Given the description of an element on the screen output the (x, y) to click on. 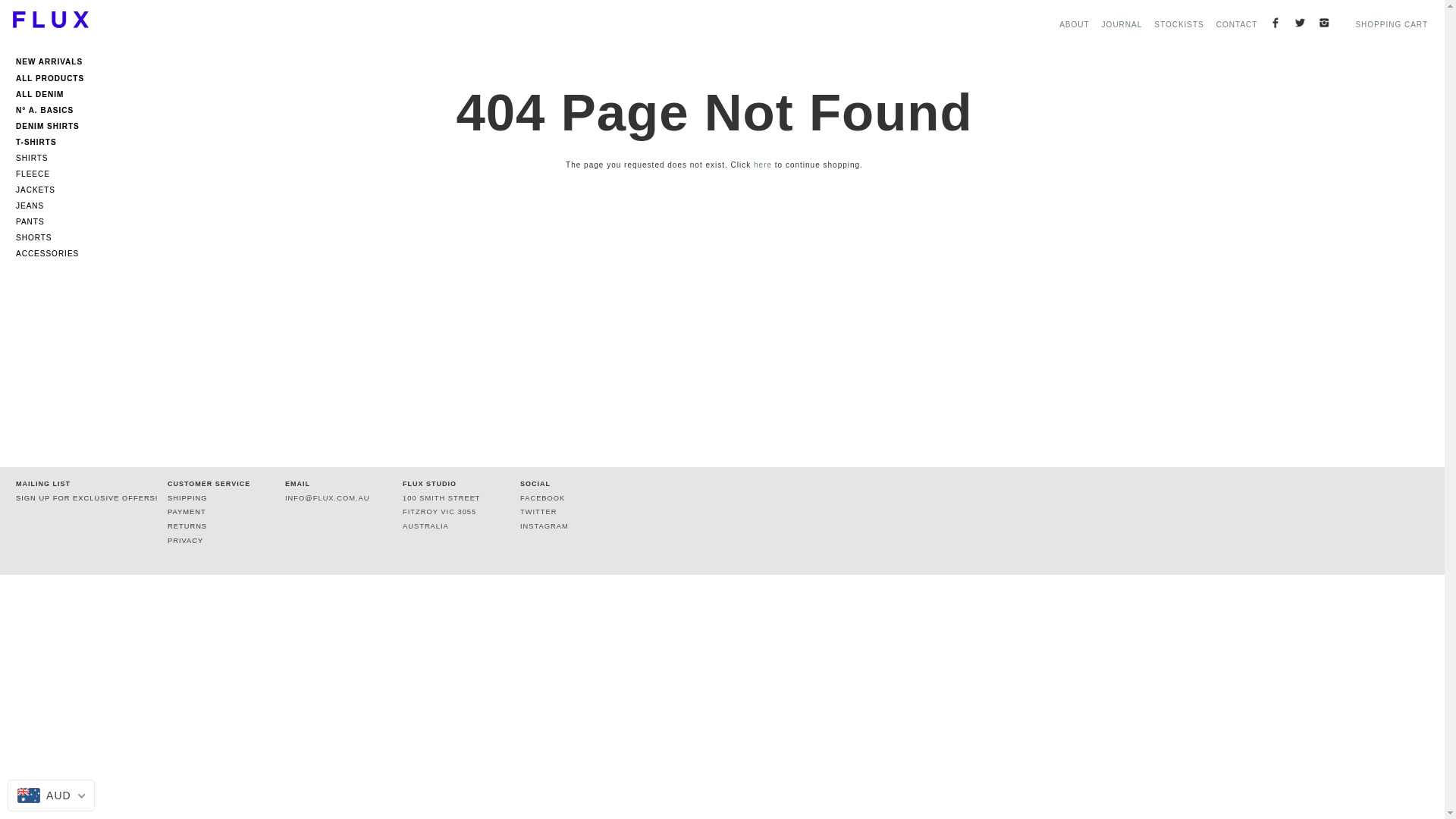
JACKETS Element type: text (53, 189)
ALL PRODUCTS Element type: text (53, 75)
DENIM SHIRTS Element type: text (53, 123)
T-SHIRTS Element type: text (53, 139)
CONTACT Element type: text (1237, 24)
JEANS Element type: text (53, 205)
PANTS Element type: text (53, 221)
INFO@FLUX.COM.AU Element type: text (327, 498)
ACCESSORIES Element type: text (53, 253)
SIGN UP FOR EXCLUSIVE OFFERS! Element type: text (86, 498)
SHIRTS Element type: text (53, 158)
STOCKISTS Element type: text (1179, 24)
SHOPPING CART Element type: text (1391, 24)
PAYMENT Element type: text (186, 511)
SHORTS Element type: text (53, 237)
RETURNS Element type: text (187, 526)
ALL DENIM Element type: text (53, 91)
ABOUT Element type: text (1073, 24)
TWITTER Element type: text (538, 511)
PRIVACY Element type: text (185, 540)
INSTAGRAM Element type: text (544, 526)
FACEBOOK Element type: text (542, 498)
here Element type: text (762, 164)
NEW ARRIVALS Element type: text (53, 64)
JOURNAL Element type: text (1121, 24)
SHIPPING Element type: text (187, 498)
FLEECE Element type: text (53, 174)
